Given the description of an element on the screen output the (x, y) to click on. 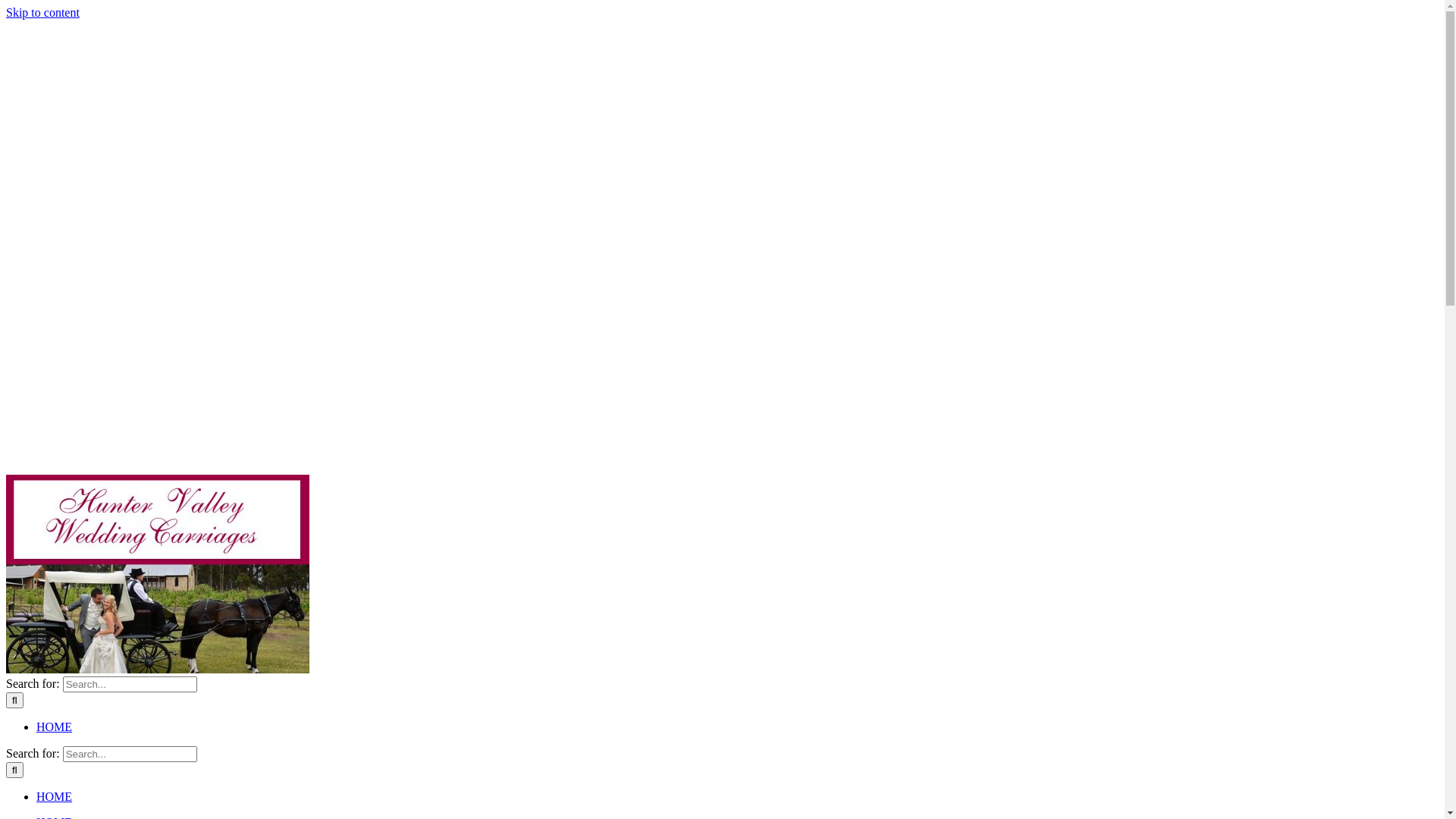
HOME Element type: text (62, 726)
Skip to content Element type: text (42, 12)
HOME Element type: text (62, 796)
